Given the description of an element on the screen output the (x, y) to click on. 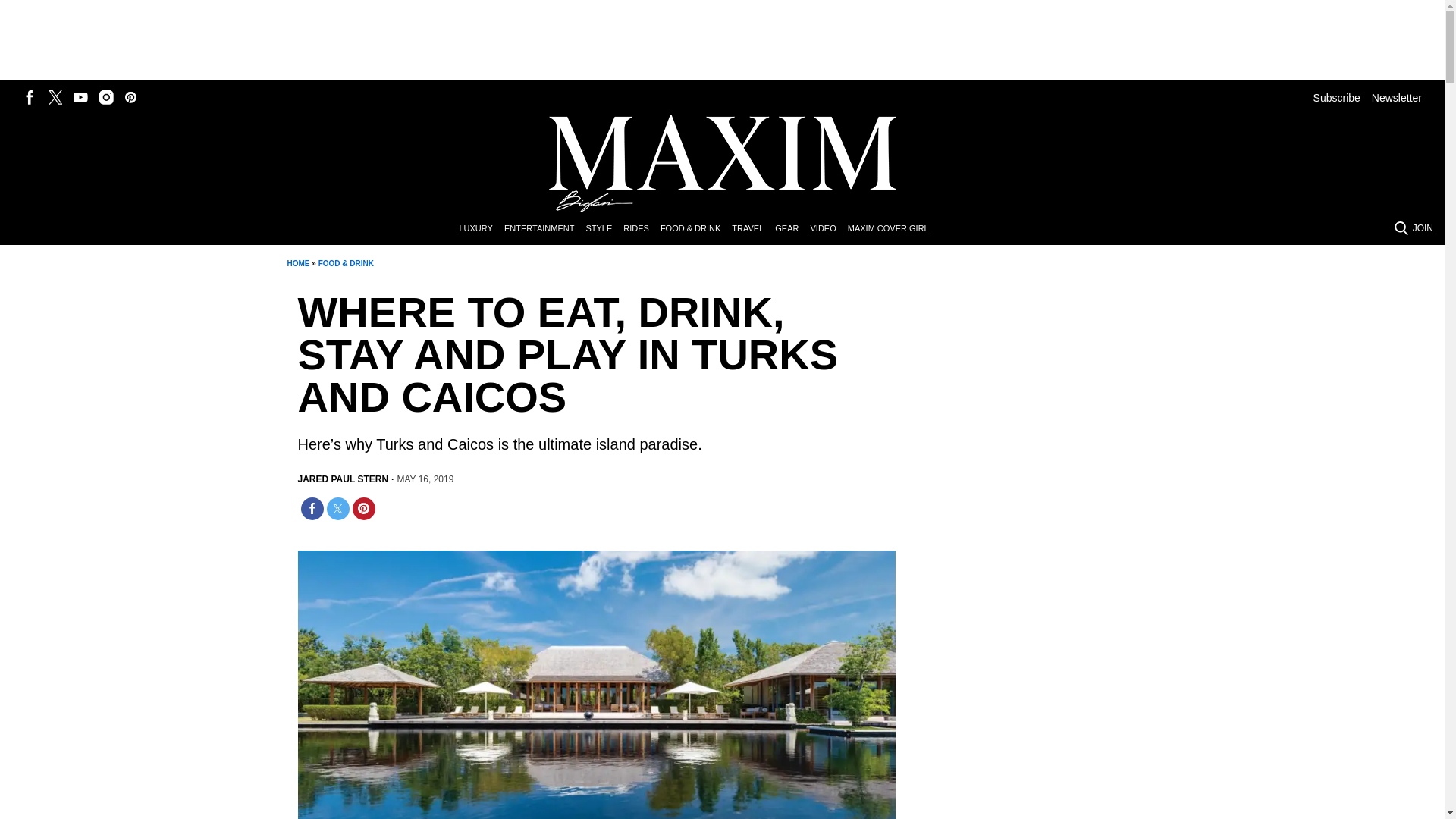
Newsletter (1396, 97)
Follow us on Facebook (30, 97)
HOME (297, 263)
Follow us on Instagram (106, 97)
MAXIM COVER GIRL (893, 228)
ENTERTAINMENT (544, 228)
STYLE (604, 228)
Share on Twitter (337, 508)
Follow us on Twitter (55, 97)
JOIN (1422, 228)
GEAR (791, 228)
RIDES (642, 228)
Posts by Jared Paul Stern (342, 479)
Follow us on Youtube (80, 97)
TRAVEL (753, 228)
